Given the description of an element on the screen output the (x, y) to click on. 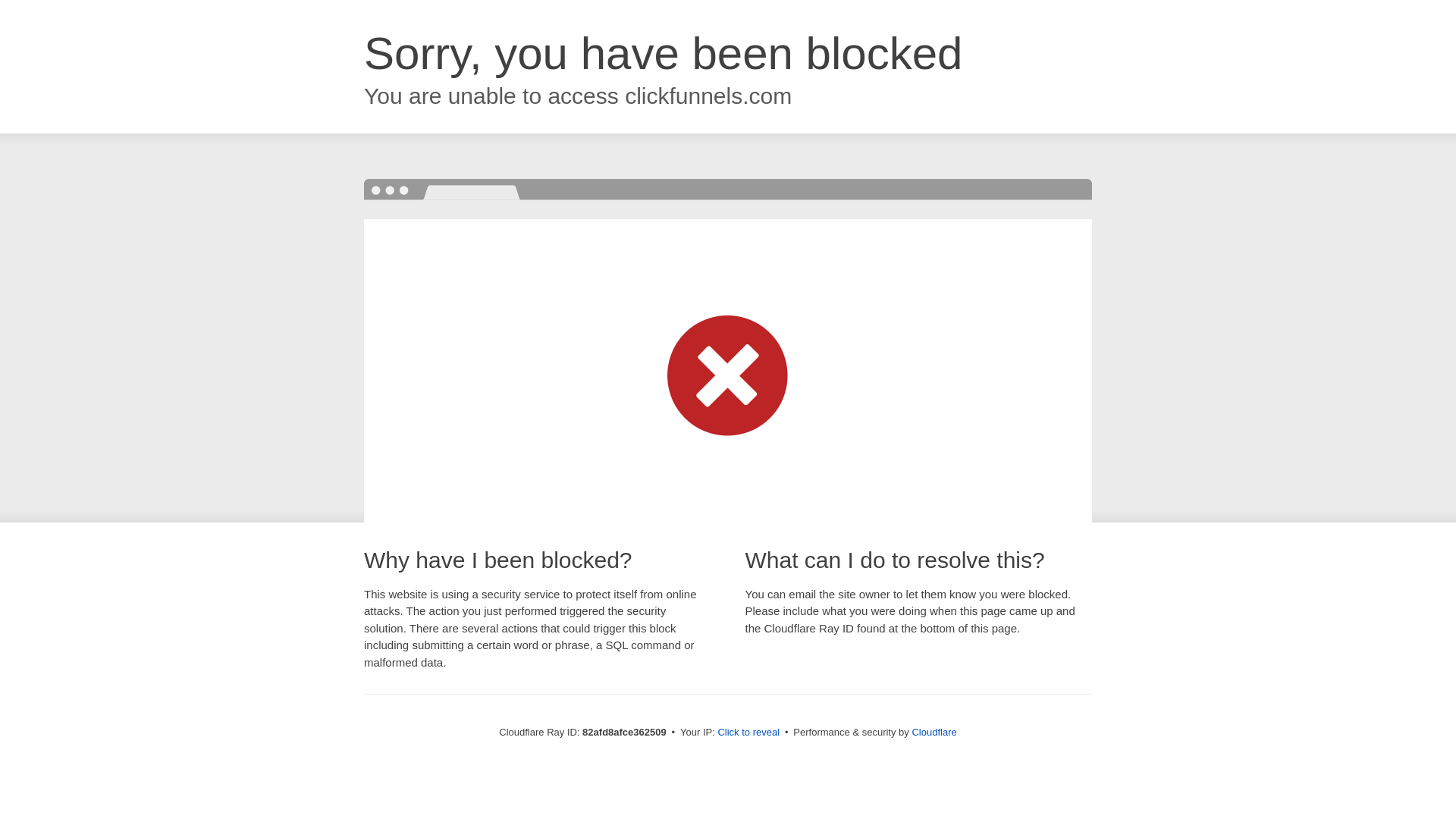
Cloudflare Element type: text (933, 731)
Click to reveal Element type: text (748, 732)
